Given the description of an element on the screen output the (x, y) to click on. 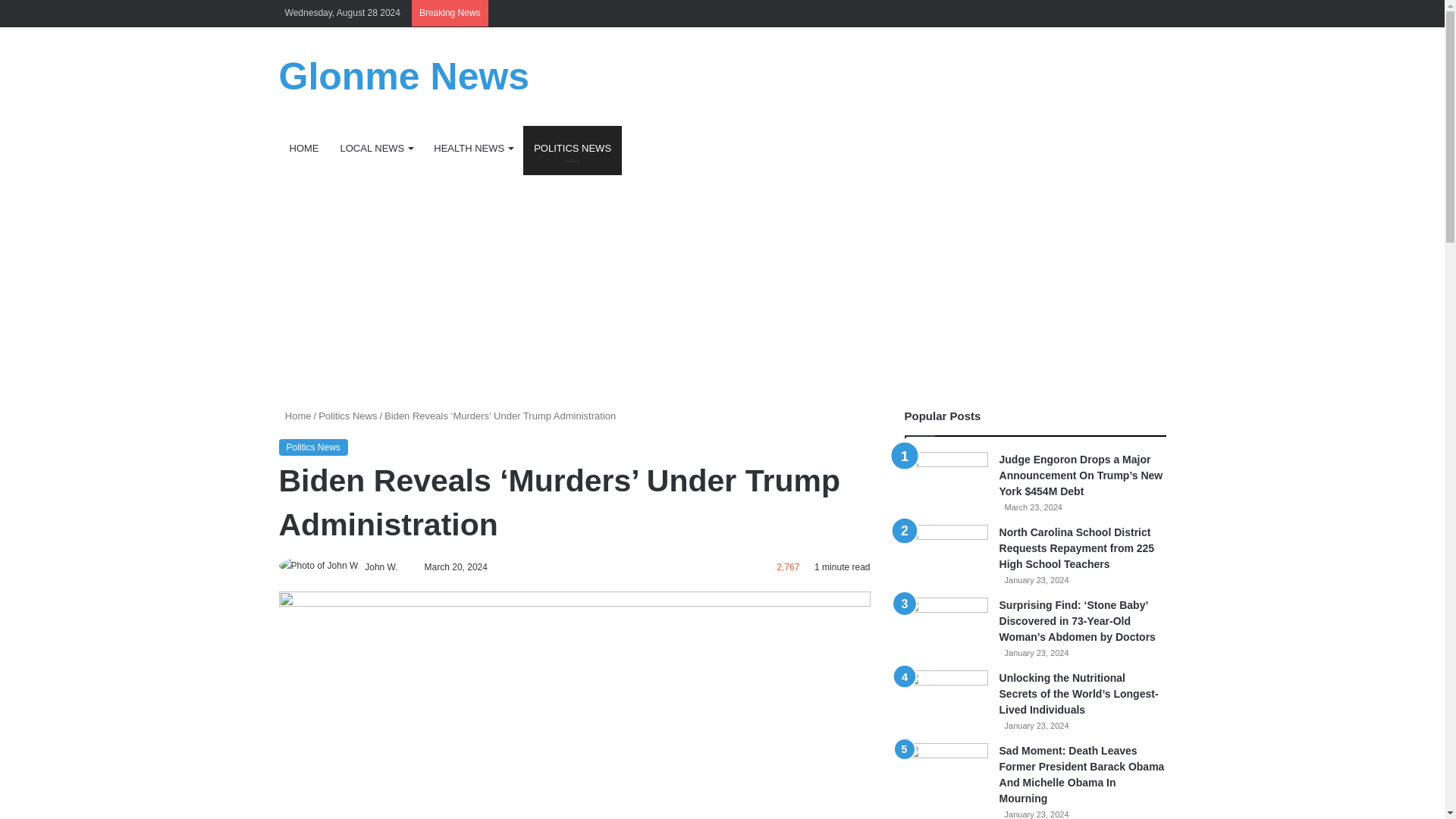
Home (295, 415)
Glonme News (404, 76)
LOCAL NEWS (376, 148)
Politics News (313, 446)
HEALTH NEWS (472, 148)
HOME (304, 148)
POLITICS NEWS (571, 148)
Politics News (347, 415)
Glonme News (404, 76)
